Given the description of an element on the screen output the (x, y) to click on. 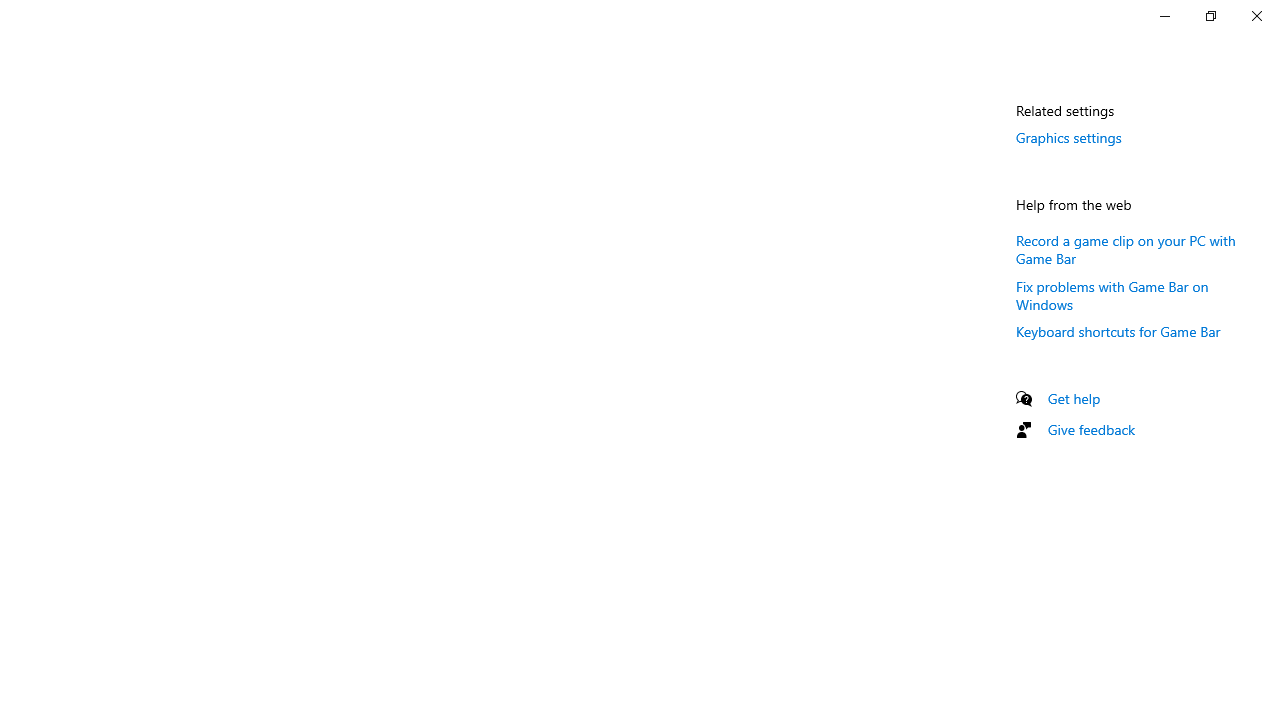
Get help (1074, 398)
Fix problems with Game Bar on Windows (1112, 294)
Give feedback (1091, 429)
Minimize Settings (1164, 15)
Record a game clip on your PC with Game Bar (1126, 248)
Restore Settings (1210, 15)
Keyboard shortcuts for Game Bar (1118, 331)
Graphics settings (1069, 137)
Close Settings (1256, 15)
